Given the description of an element on the screen output the (x, y) to click on. 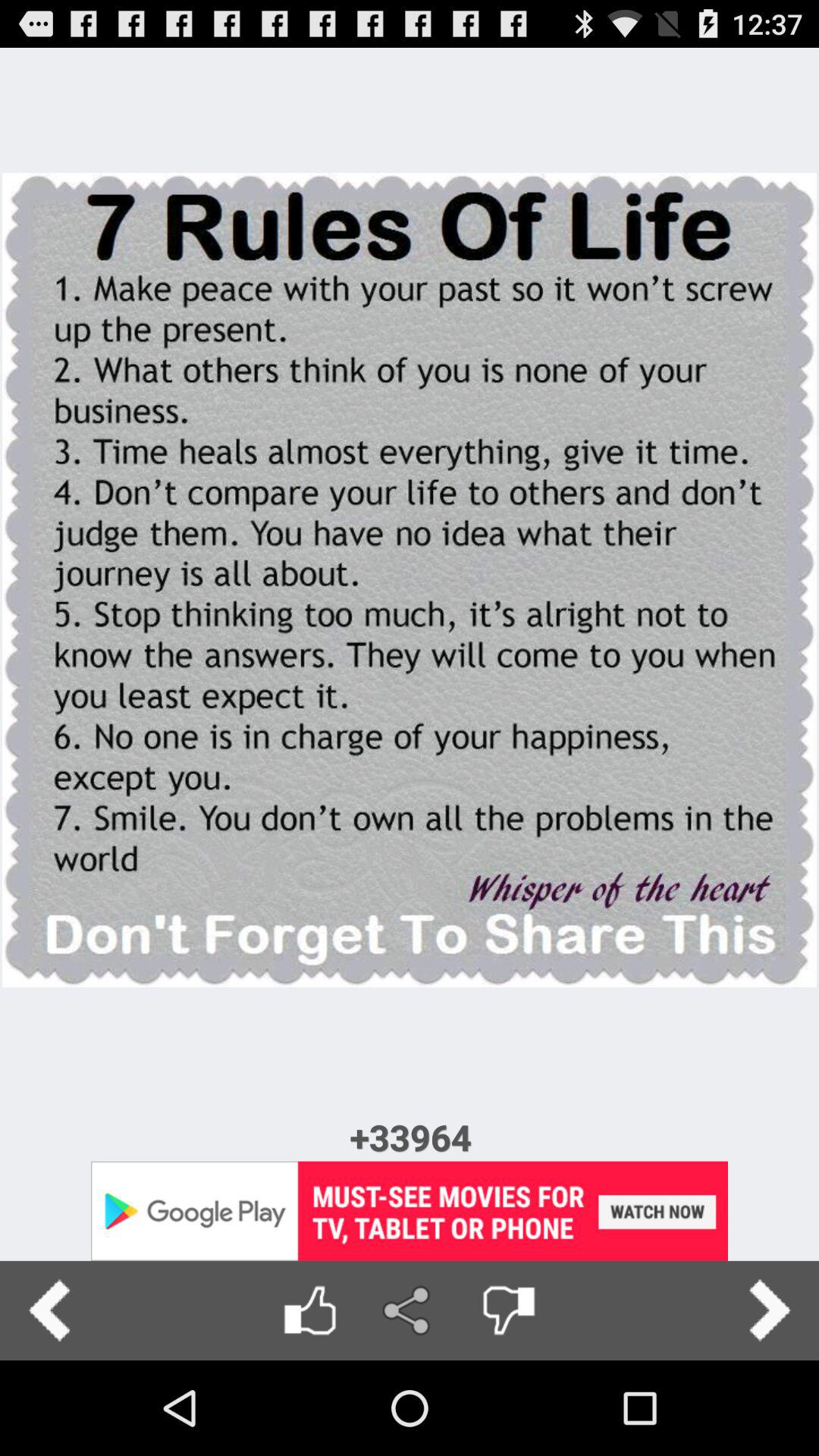
like option (309, 1310)
